Given the description of an element on the screen output the (x, y) to click on. 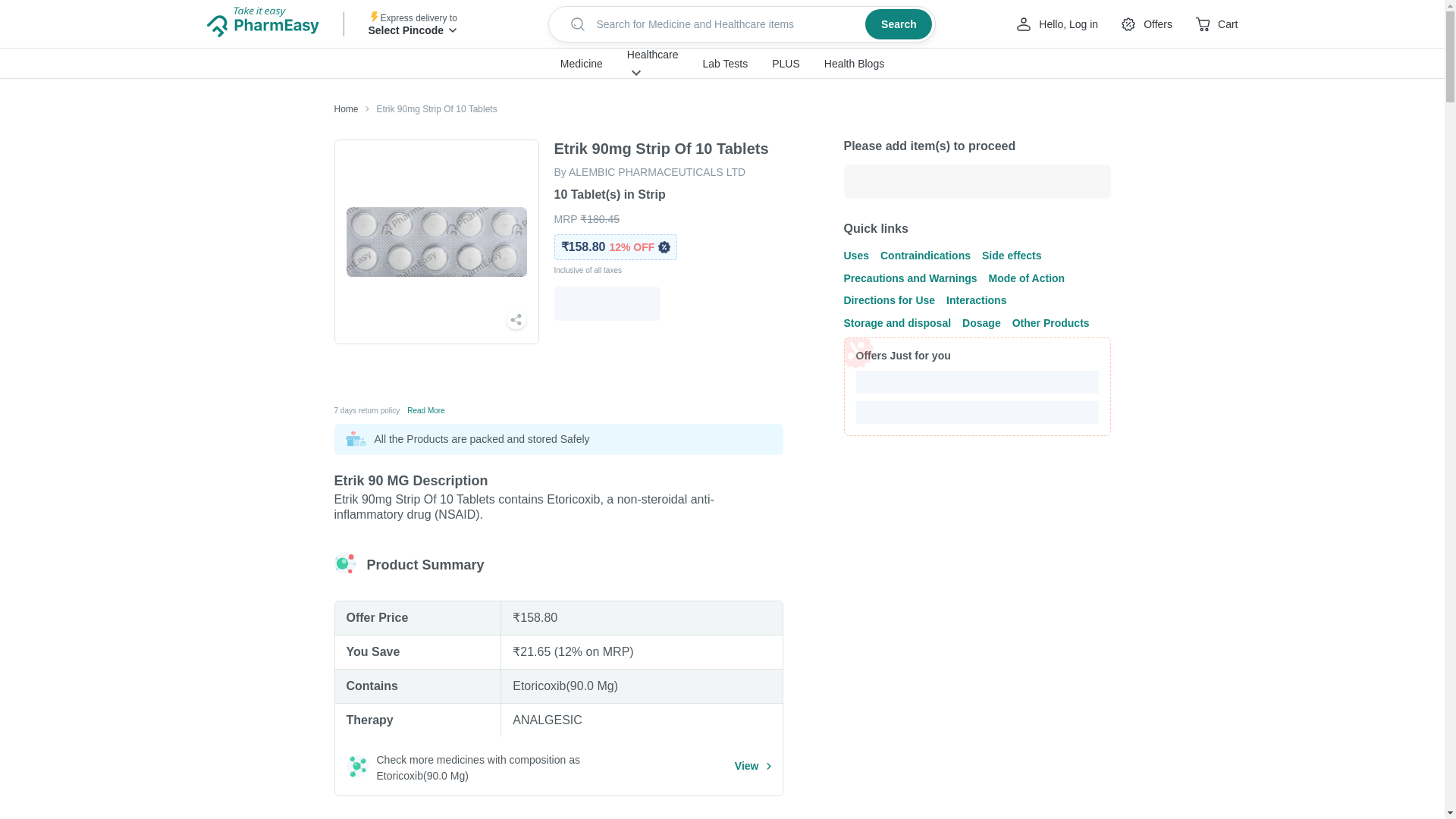
Uses (855, 255)
Read More (425, 410)
Lab Tests (725, 63)
View (753, 765)
Offers (1145, 24)
PLUS (785, 63)
Medicine (581, 63)
Cart (1215, 24)
Home (345, 109)
Contraindications (925, 255)
Healthcare (652, 54)
Health Blogs (853, 63)
Etrik 90mg Strip Of 10 Tablets (427, 109)
